Given the description of an element on the screen output the (x, y) to click on. 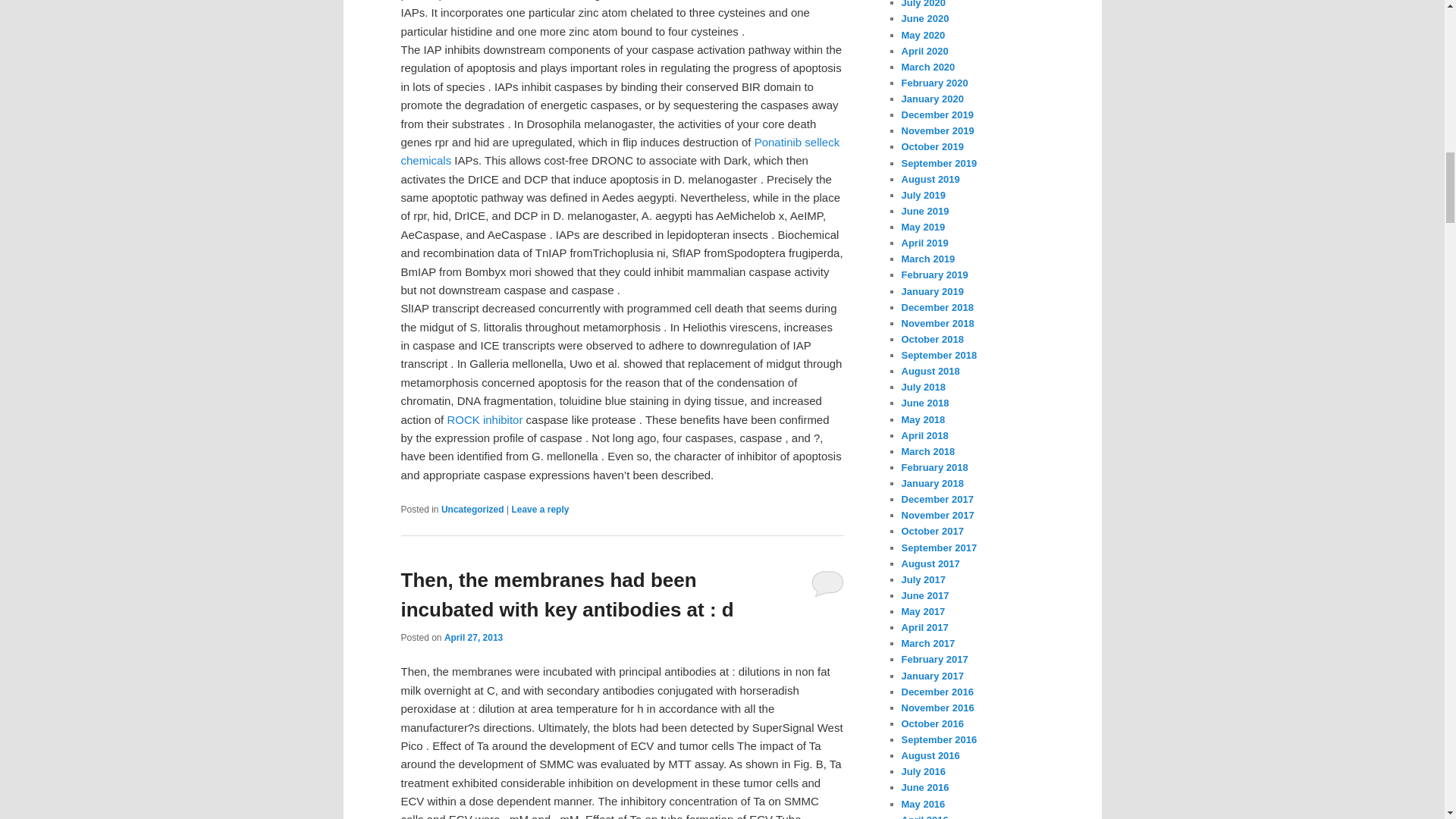
April 27, 2013 (473, 637)
Uncategorized (472, 509)
Leave a reply (540, 509)
View all posts in Uncategorized (472, 509)
ROCK inhibitor (484, 419)
Ponatinib selleck chemicals (620, 151)
